Given the description of an element on the screen output the (x, y) to click on. 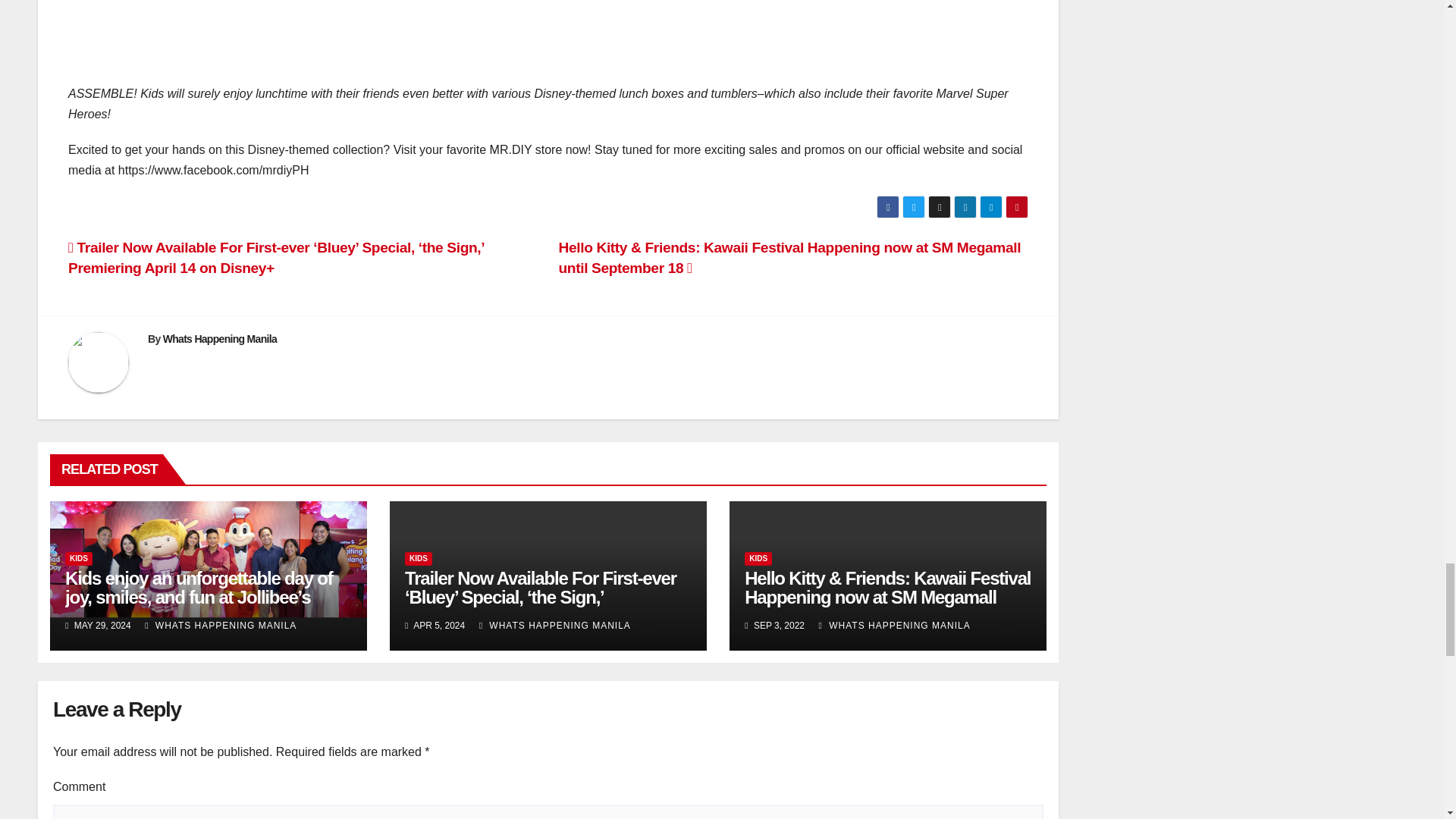
Whats Happening Manila (219, 338)
KIDS (757, 558)
WHATS HAPPENING MANILA (220, 624)
KIDS (79, 558)
WHATS HAPPENING MANILA (554, 624)
WHATS HAPPENING MANILA (894, 624)
KIDS (418, 558)
